Given the description of an element on the screen output the (x, y) to click on. 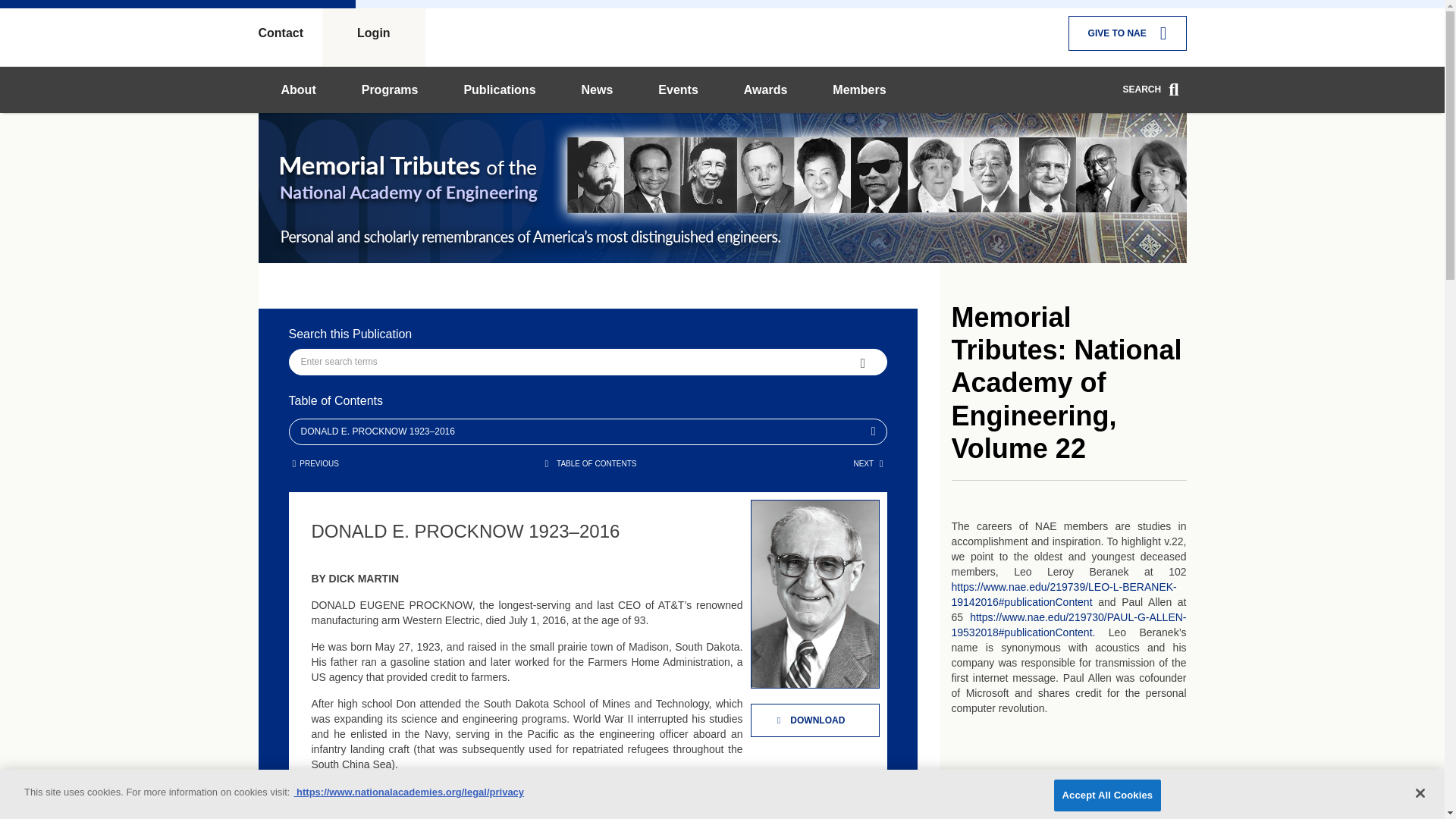
GIVE TO NAE (1127, 32)
Contact (289, 33)
Login (373, 33)
